Given the description of an element on the screen output the (x, y) to click on. 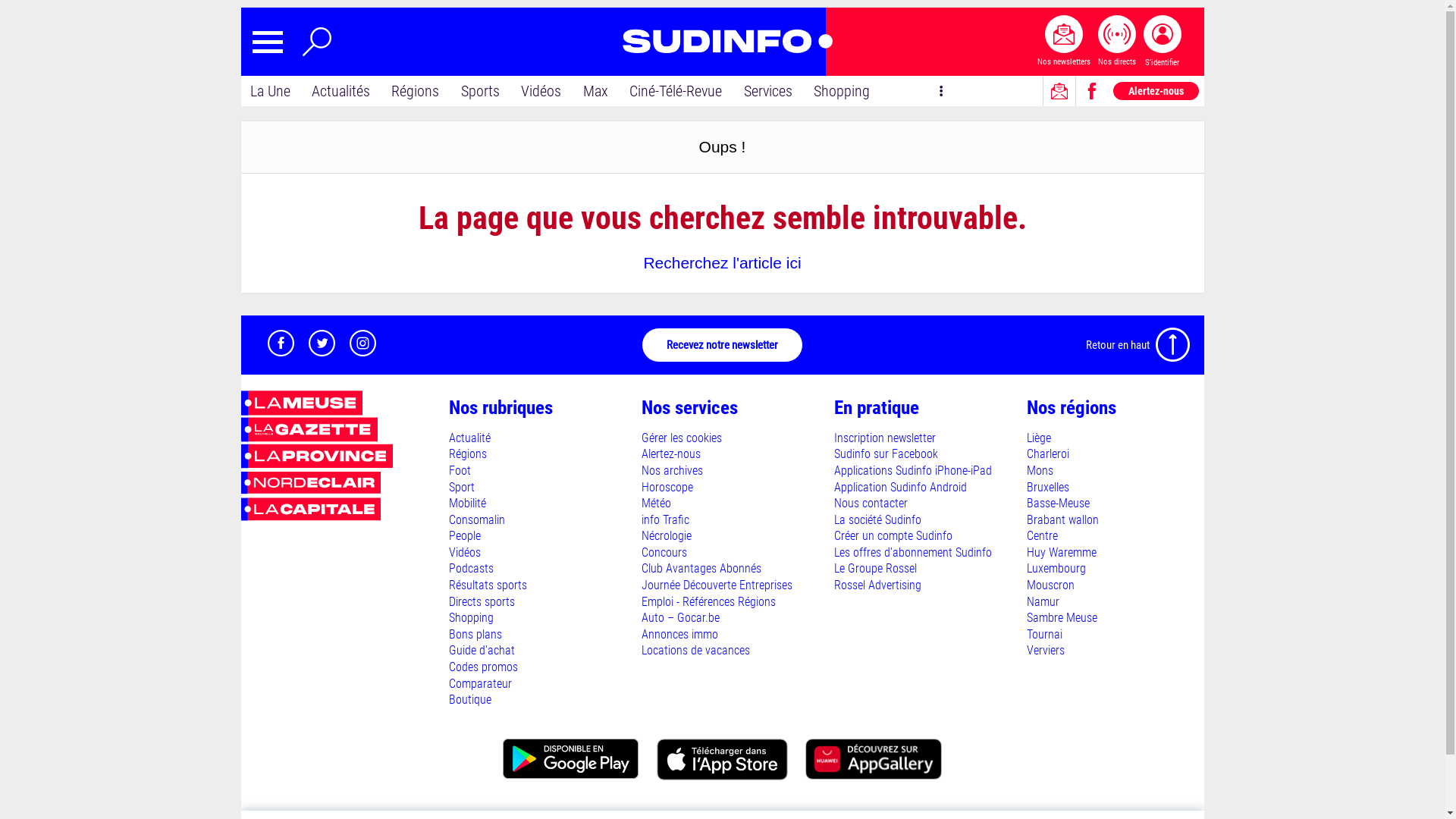
Consomalin Element type: text (476, 519)
Foot Element type: text (459, 470)
Horoscope Element type: text (667, 487)
Mons Element type: text (1039, 470)
Les offres d'abonnement Sudinfo Element type: text (912, 552)
Recevez notre newsletter Element type: text (722, 344)
Boutique Element type: text (469, 699)
Shopping Element type: text (470, 617)
Huy Waremme Element type: text (1061, 552)
Sambre Meuse Element type: text (1061, 617)
Inscription newsletter Element type: text (884, 437)
Rossel Advertising Element type: text (877, 584)
Nos newsletters Element type: text (1063, 41)
Sport Element type: text (461, 487)
Mouscron Element type: text (1050, 584)
Guide d'achat Element type: text (481, 650)
Namur Element type: text (1042, 601)
S'identifier Element type: text (1162, 41)
Nous contacter Element type: text (870, 502)
Charleroi Element type: text (1047, 453)
Shopping Element type: text (841, 90)
Annonces immo Element type: text (679, 634)
Services Element type: text (768, 90)
Menu Element type: hover (266, 42)
Locations de vacances Element type: text (695, 650)
Verviers Element type: text (1045, 650)
Comparateur Element type: text (479, 683)
Tournai Element type: text (1044, 634)
Applications Sudinfo iPhone-iPad Element type: text (912, 470)
Codes promos Element type: text (482, 666)
Recherche Element type: hover (316, 41)
sudinfo.be Element type: hover (721, 41)
Alertez-nous Element type: text (1155, 90)
Podcasts Element type: text (470, 568)
Basse-Meuse Element type: text (1057, 502)
Bons plans Element type: text (475, 634)
Concours Element type: text (664, 552)
Sudinfo sur Facebook Element type: text (886, 453)
info Trafic Element type: text (665, 519)
Recherchez l'article ici Element type: text (721, 262)
Retour en haut Element type: text (1138, 344)
Directs sports Element type: text (481, 601)
Nos archives Element type: text (671, 470)
Luxembourg Element type: text (1055, 568)
People Element type: text (464, 535)
Bruxelles Element type: text (1047, 487)
Alertez-nous Element type: text (670, 453)
Application Sudinfo Android Element type: text (900, 487)
Le Groupe Rossel Element type: text (875, 568)
Max Element type: text (595, 90)
Centre Element type: text (1041, 535)
La Une Element type: text (270, 90)
Brabant wallon Element type: text (1062, 519)
Sports Element type: text (480, 90)
